Given the description of an element on the screen output the (x, y) to click on. 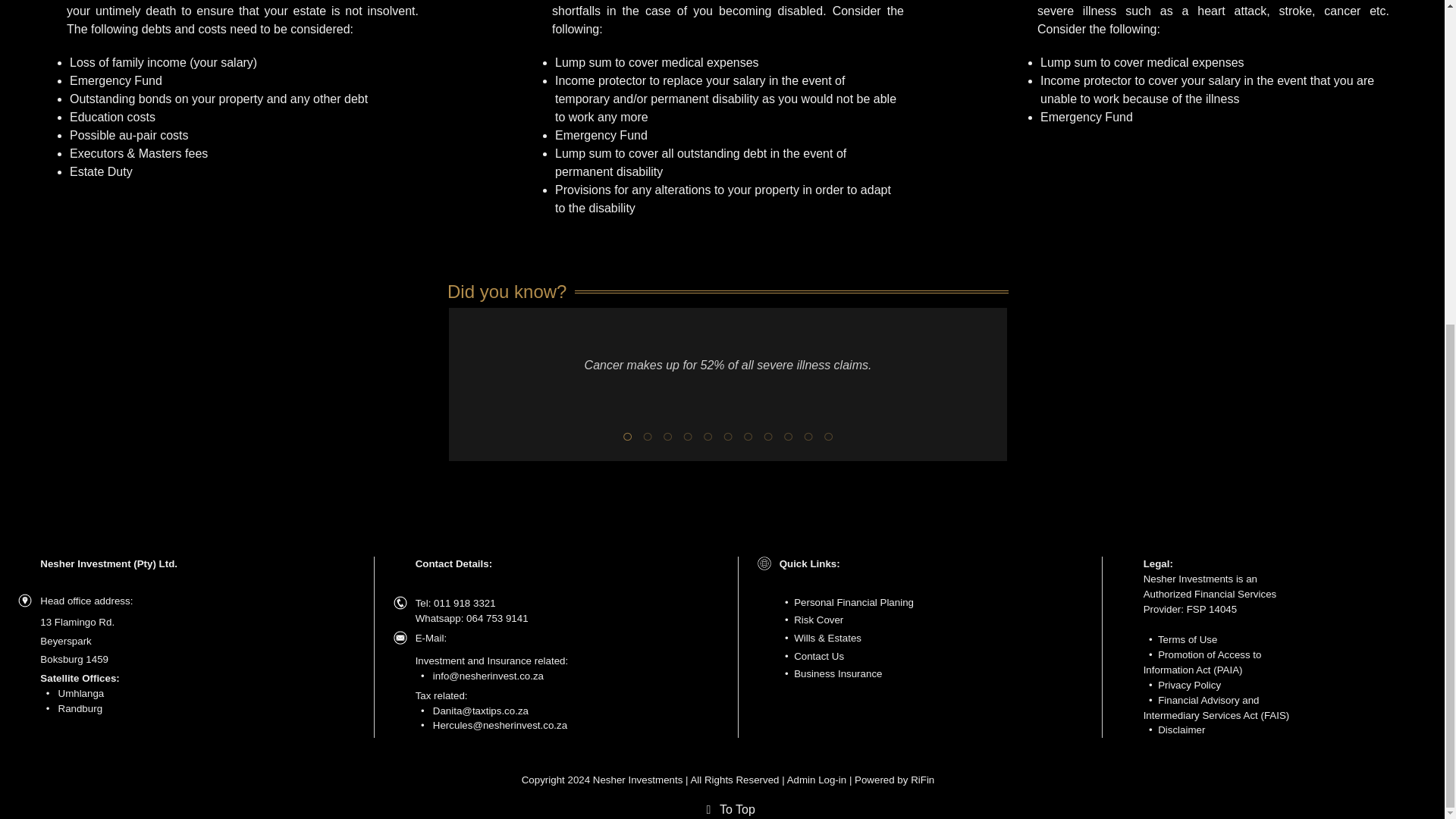
Log-in (831, 779)
Business Insurance (837, 673)
RiFin (922, 779)
Terms of Use (1187, 639)
Personal Financial Planing (853, 602)
Contact Us (818, 655)
Disclaimer (1181, 729)
Risk Cover (818, 619)
Privacy Policy (1189, 685)
